Given the description of an element on the screen output the (x, y) to click on. 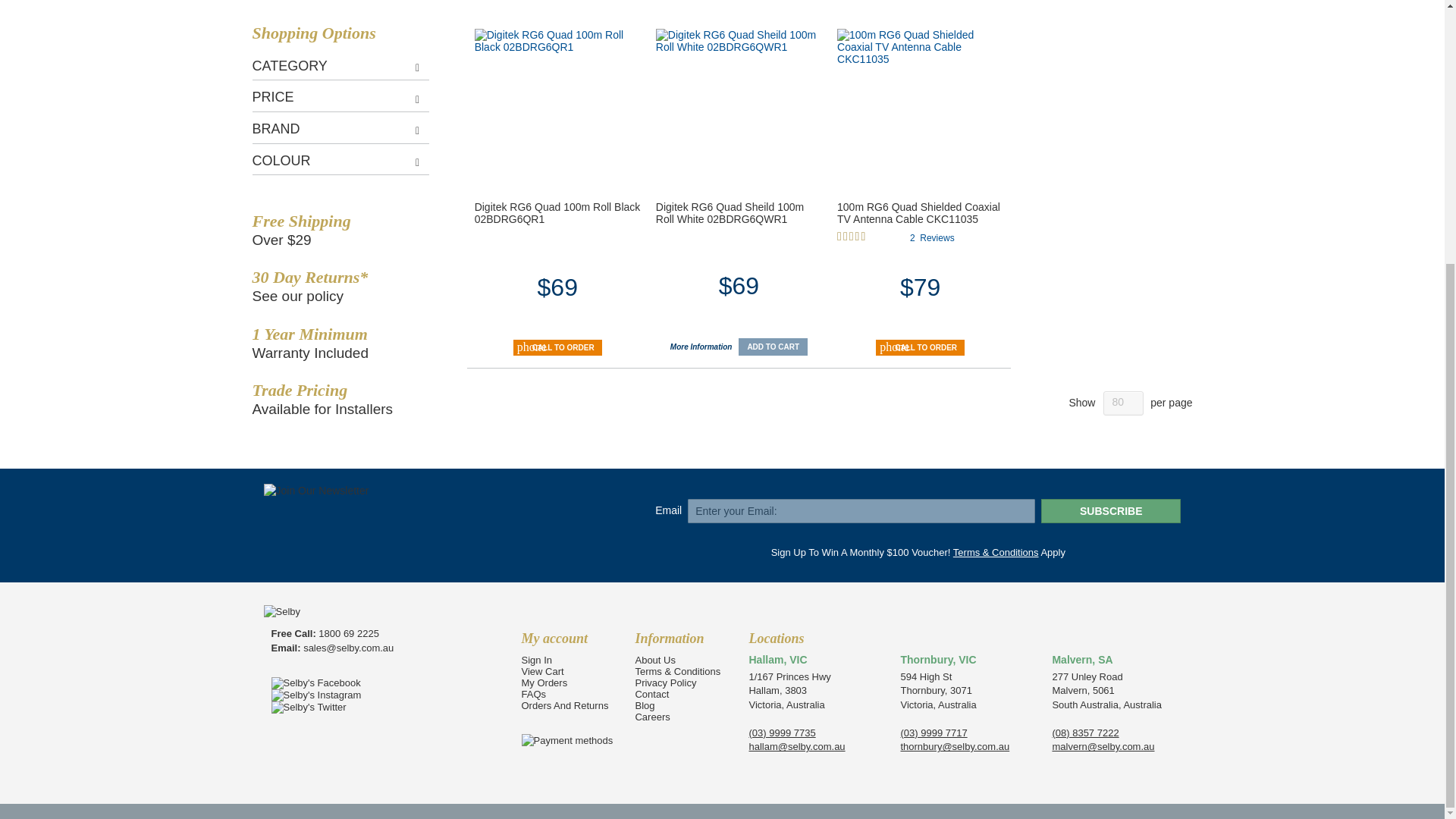
Add to Cart (773, 346)
